Given the description of an element on the screen output the (x, y) to click on. 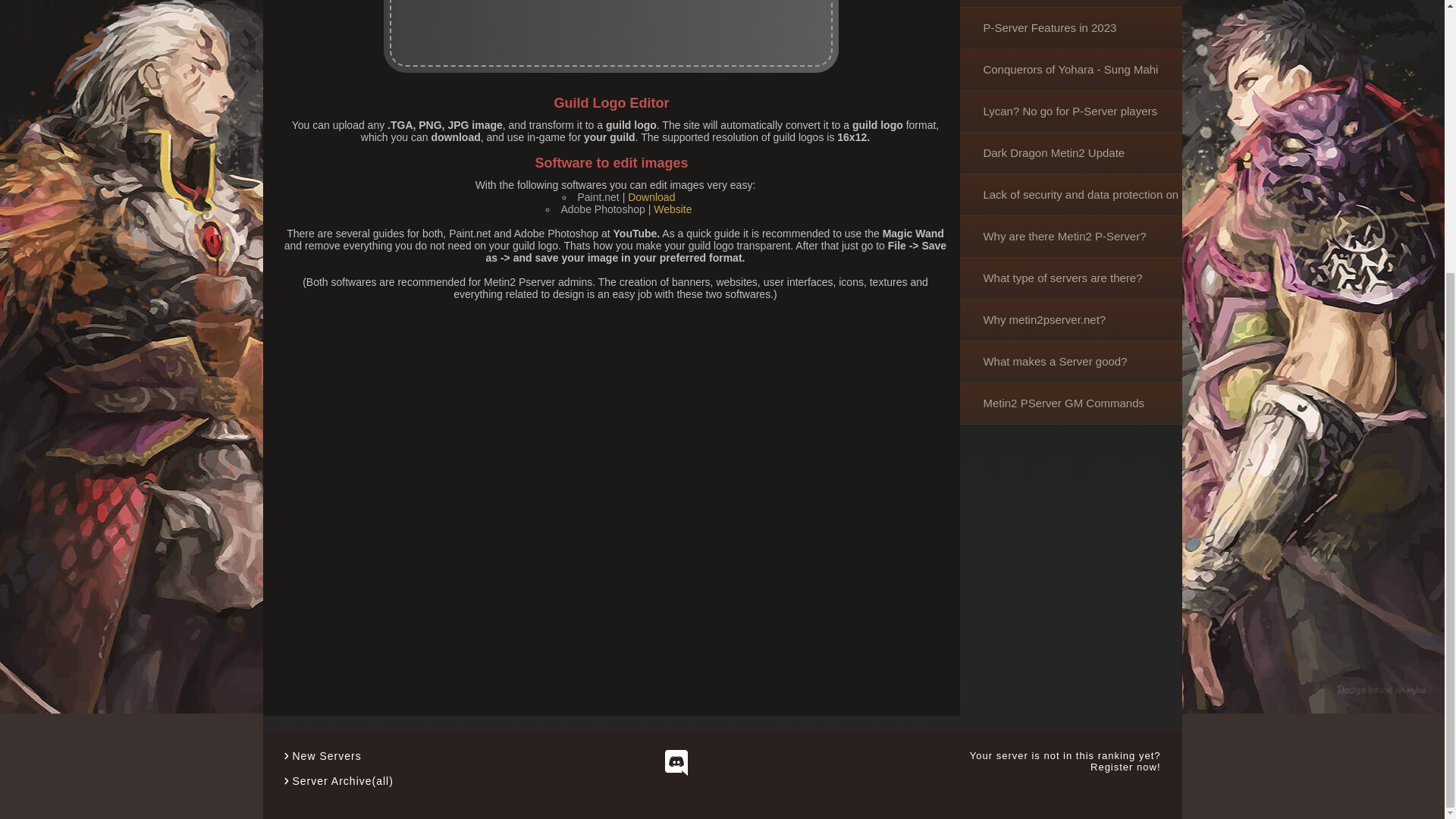
Website (672, 209)
Dragon Stone Alchemy (1069, 3)
Conquerors of Yohara - Sung Mahi (1069, 69)
Lack of security and data protection on P servers (1069, 195)
New Servers (326, 756)
Lycan? No go for P-Server players (1069, 111)
Dark Dragon Metin2 Update (1069, 153)
What makes a Server good? (1069, 362)
Download (651, 196)
Metin2 PServer GM Commands (1069, 404)
